Given the description of an element on the screen output the (x, y) to click on. 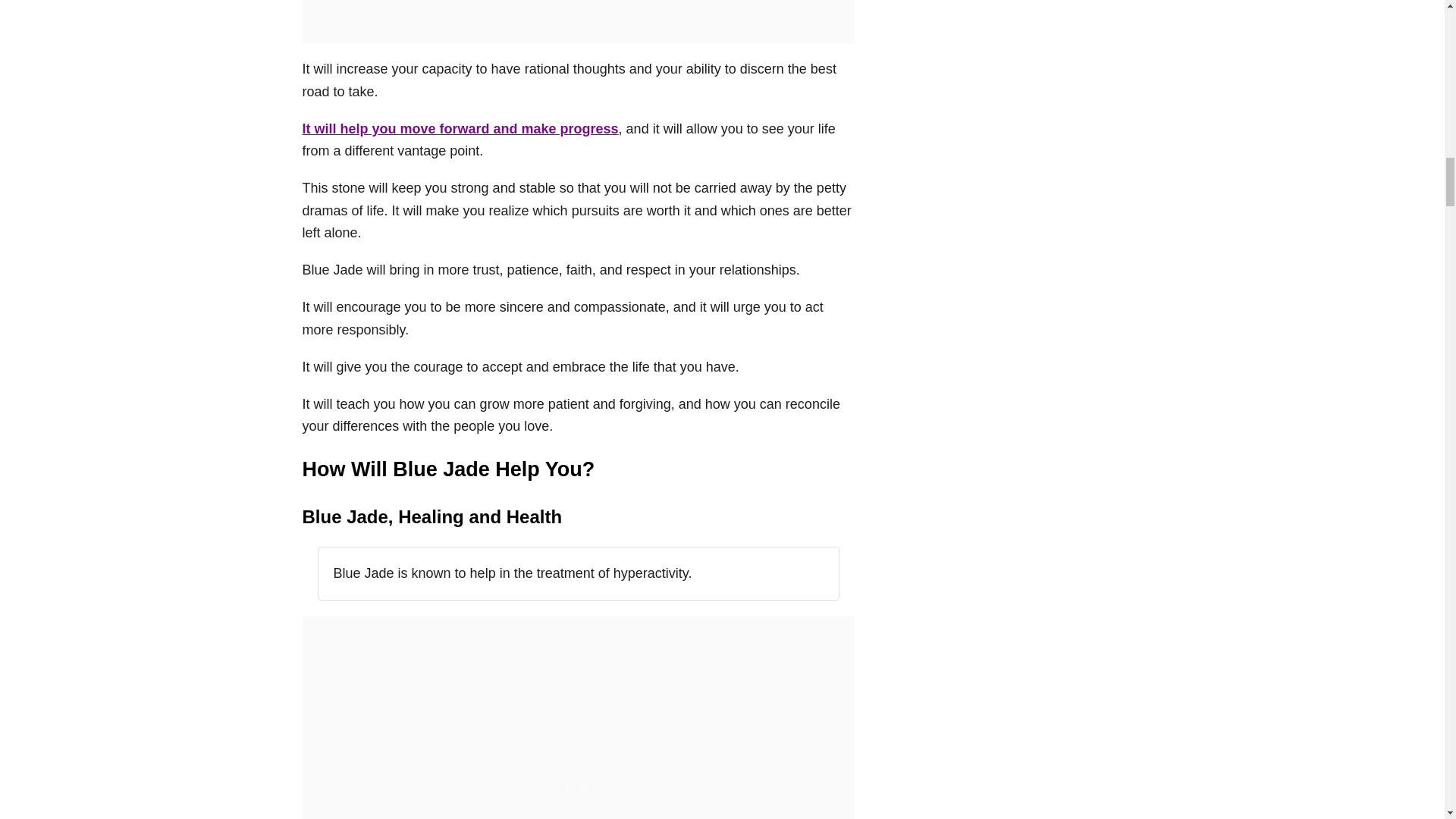
It will help you move forward and make progress (459, 128)
